Given the description of an element on the screen output the (x, y) to click on. 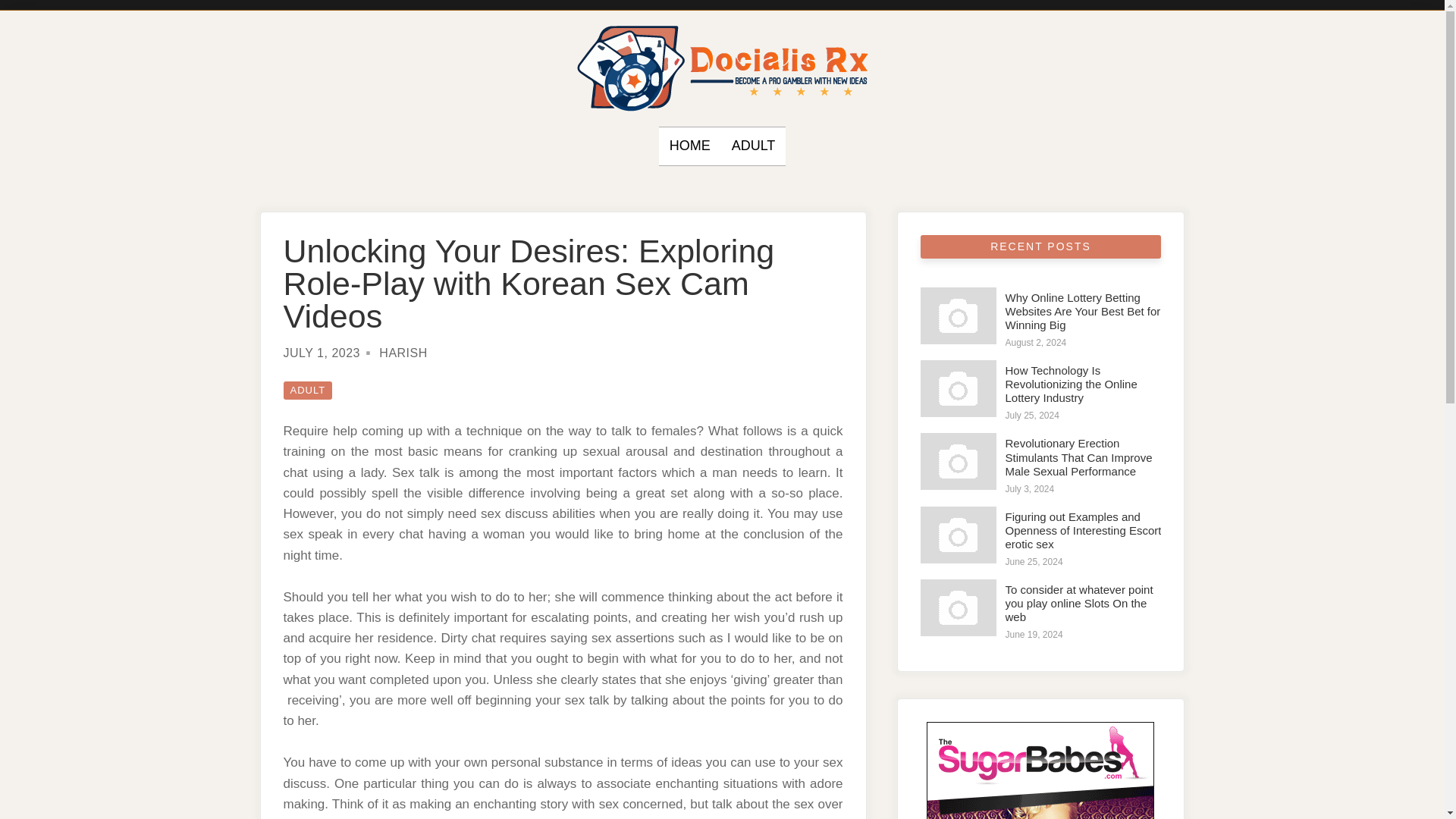
HOME (689, 146)
ADULT (754, 146)
